Given the description of an element on the screen output the (x, y) to click on. 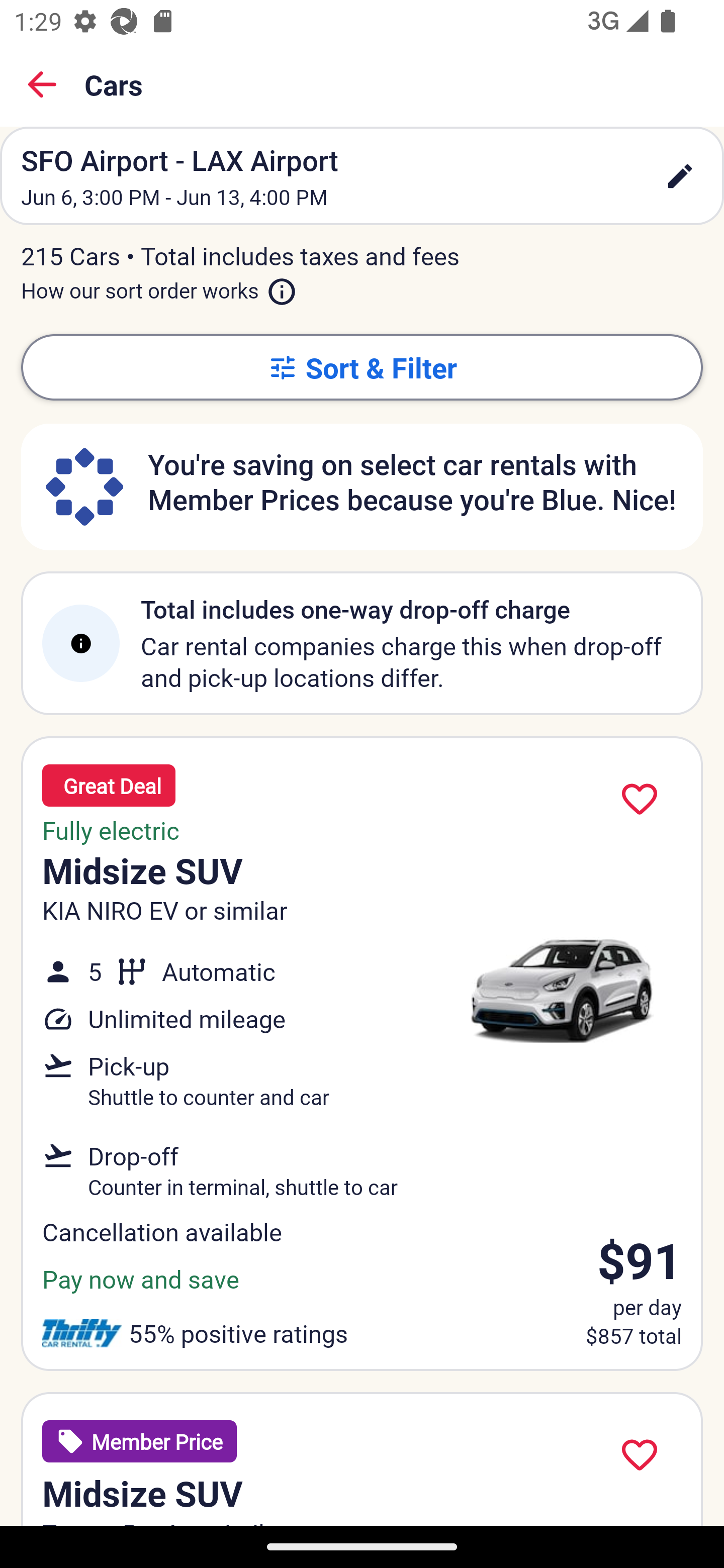
Back (42, 84)
edit (679, 175)
How our sort order works (158, 286)
Sort & Filter (361, 366)
